Given the description of an element on the screen output the (x, y) to click on. 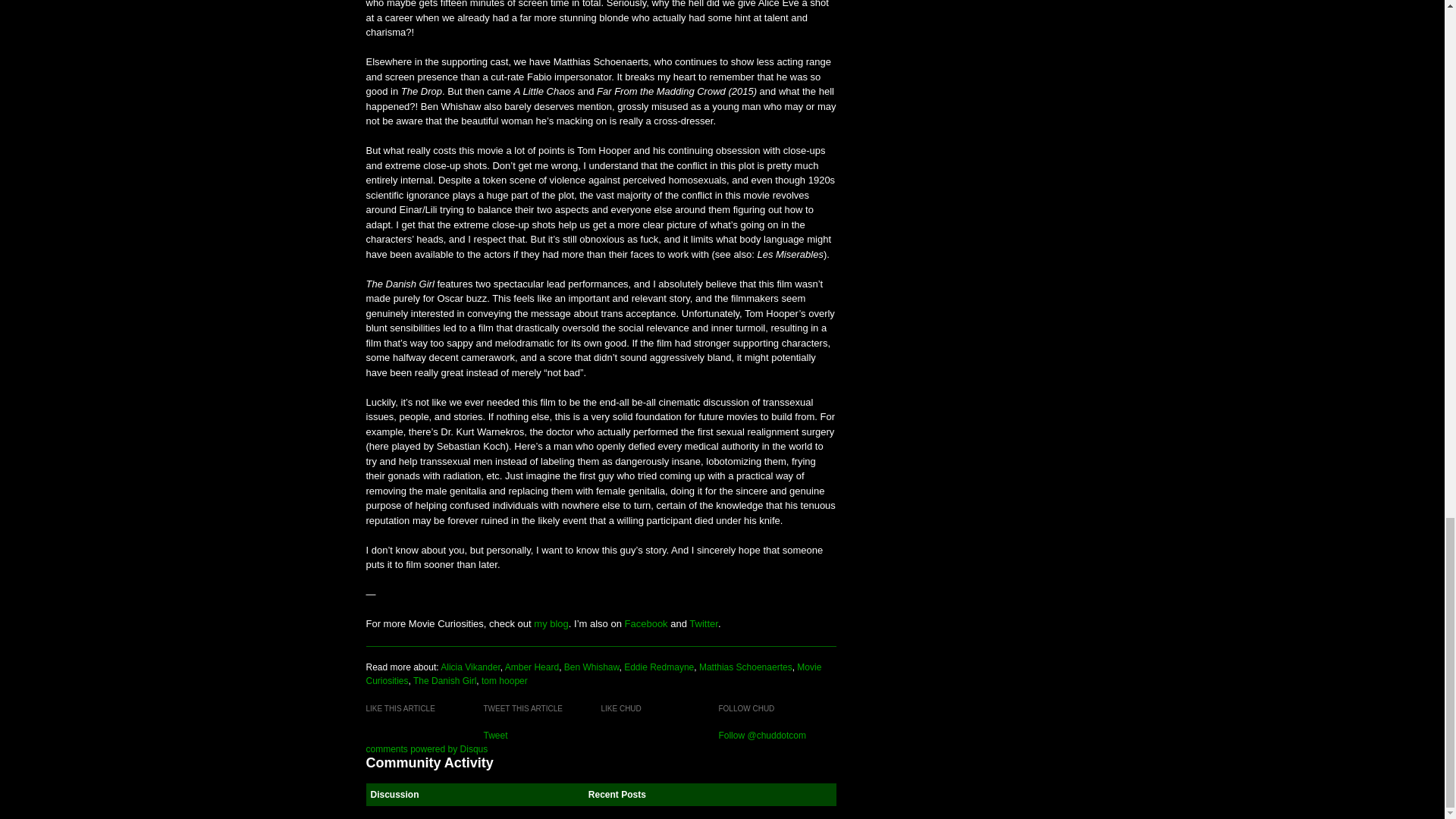
tom hooper (504, 680)
Facebook (646, 623)
my blog (551, 623)
Eddie Redmayne (659, 666)
Alicia Vikander (470, 666)
Amber Heard (532, 666)
Movie Curiosities (593, 673)
Twitter (702, 623)
The Danish Girl (444, 680)
Ben Whishaw (592, 666)
Matthias Schoenaertes (745, 666)
